Given the description of an element on the screen output the (x, y) to click on. 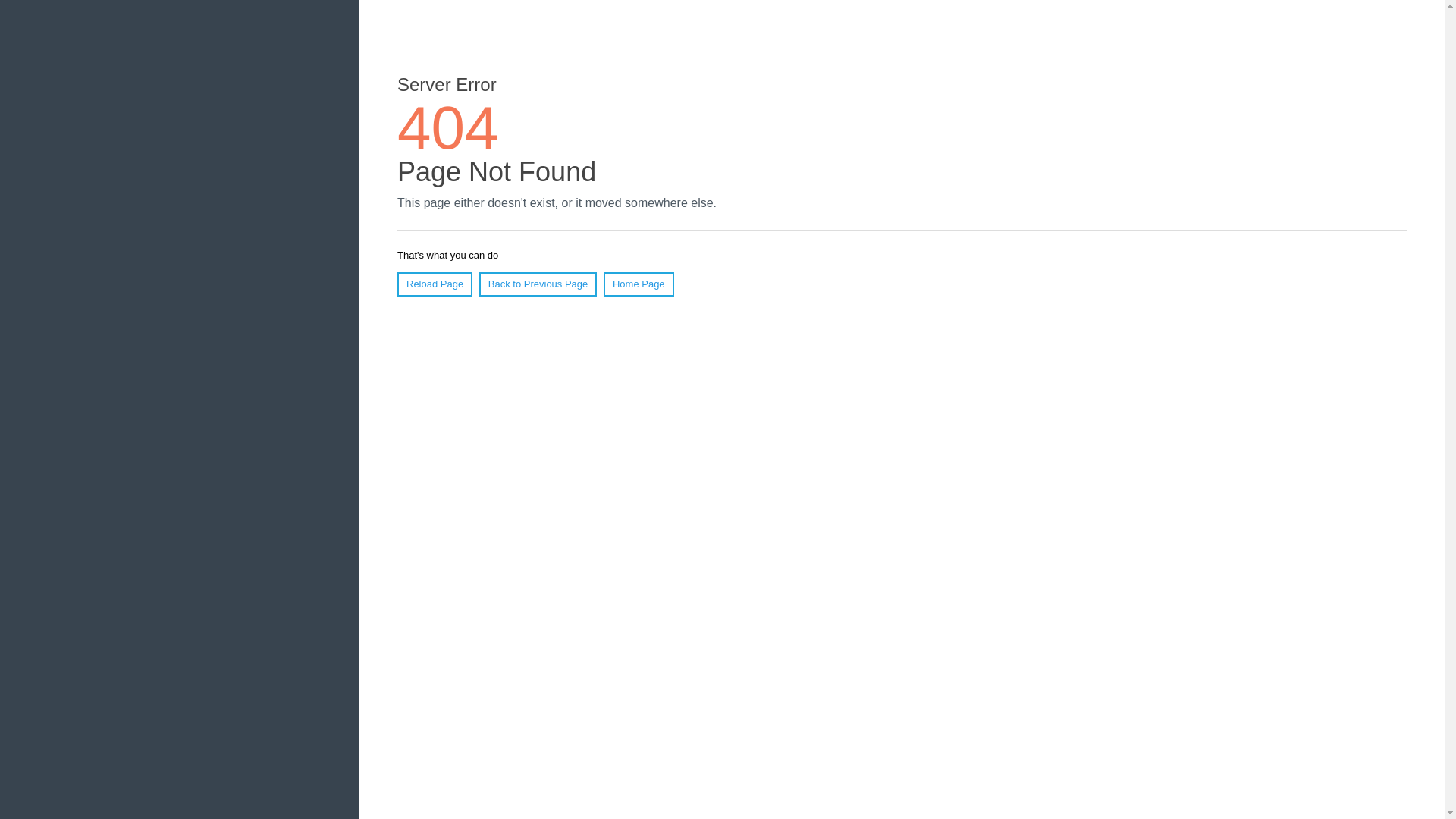
Reload Page Element type: text (434, 284)
Back to Previous Page Element type: text (538, 284)
Home Page Element type: text (638, 284)
